Given the description of an element on the screen output the (x, y) to click on. 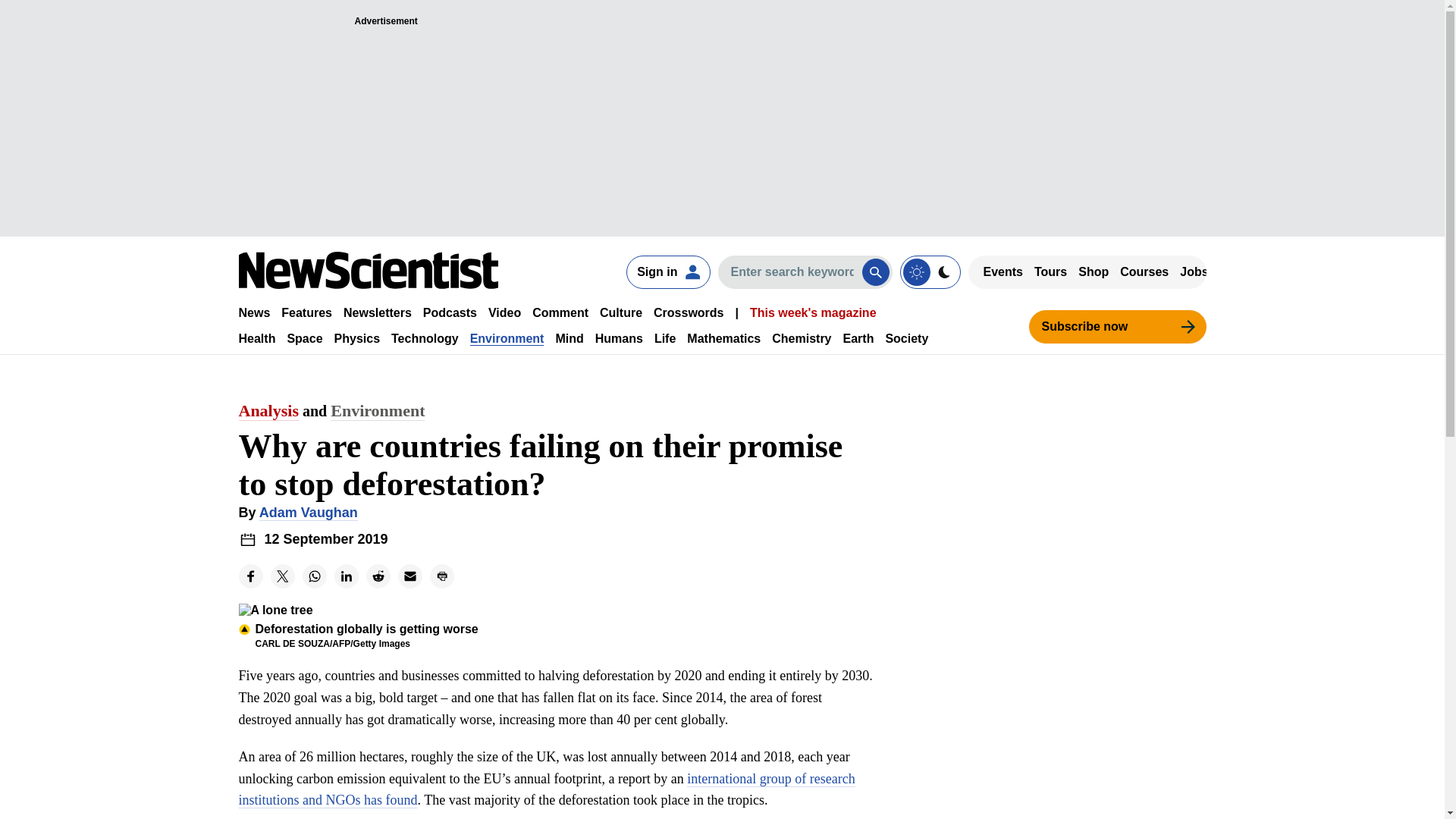
Health (256, 338)
Earth (859, 338)
Features (306, 313)
Comment (560, 313)
Crosswords (688, 313)
Courses (1144, 272)
Culture (620, 313)
Physics (357, 338)
Environment (507, 338)
Shop (1093, 272)
